Given the description of an element on the screen output the (x, y) to click on. 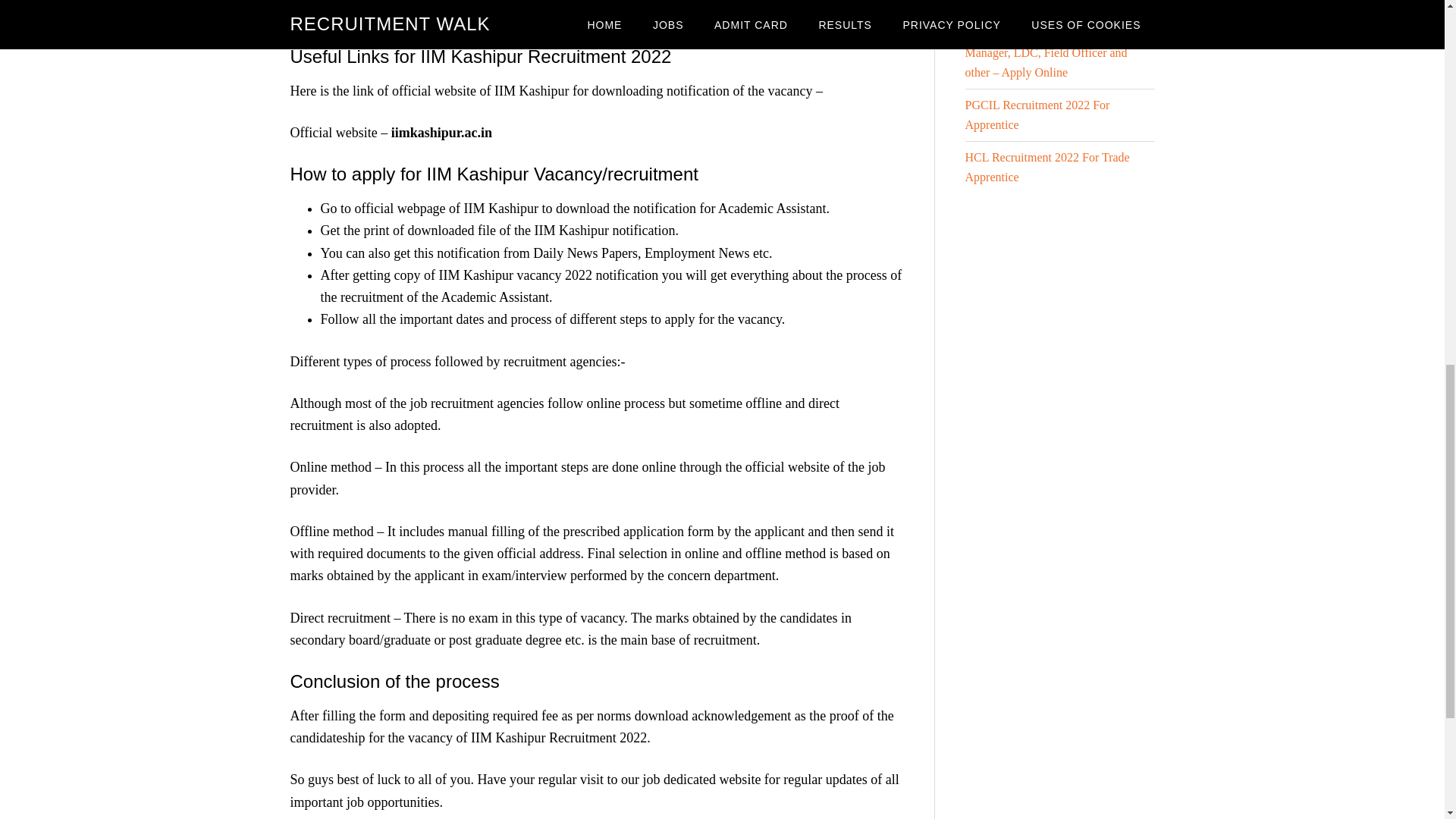
PGCIL Recruitment 2022 For Apprentice (1036, 114)
HCL Recruitment 2022 For Trade Apprentice (1046, 166)
